Given the description of an element on the screen output the (x, y) to click on. 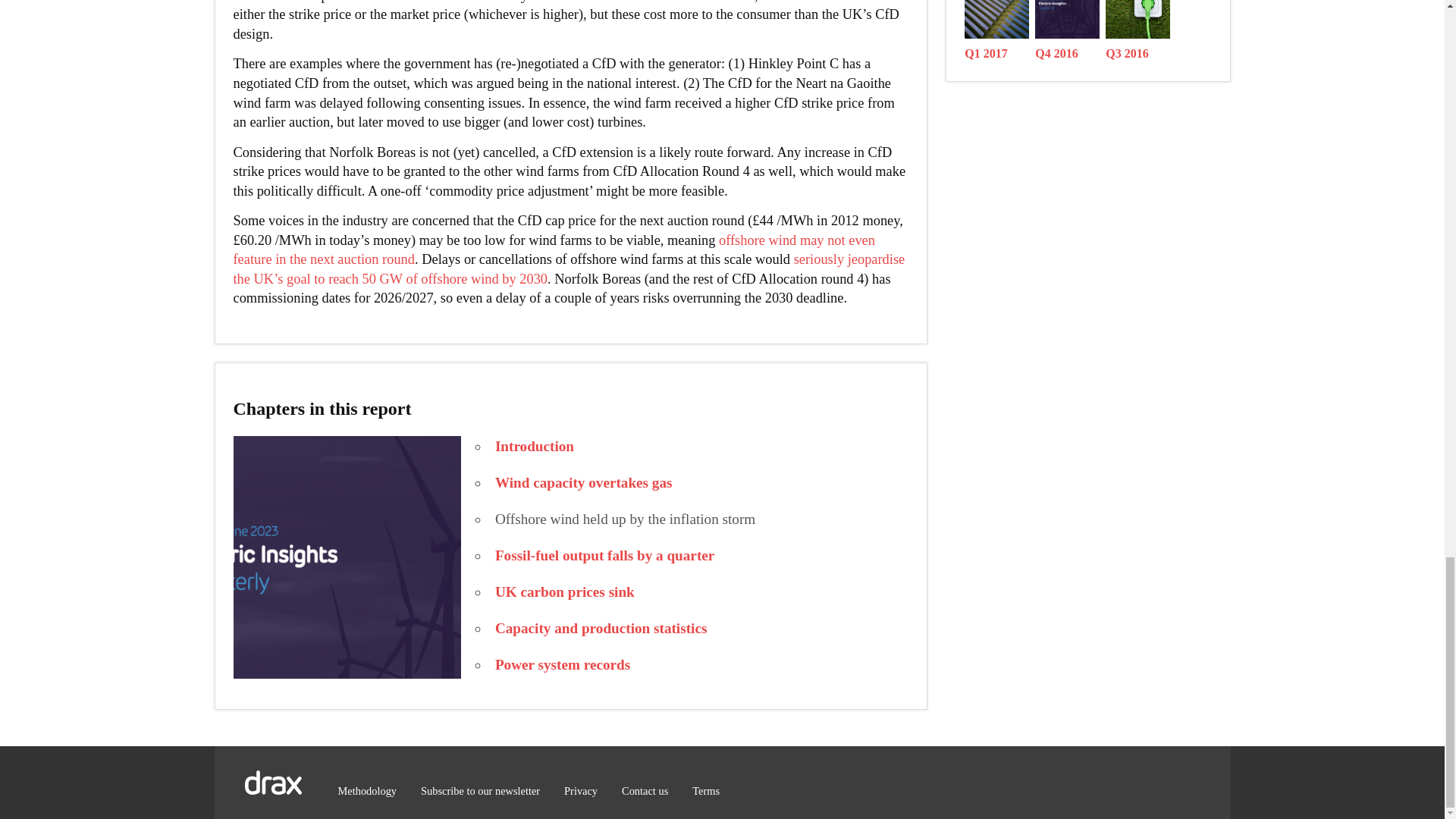
UK carbon prices sink (564, 591)
Capacity and production statistics (601, 627)
Wind capacity overtakes gas (583, 482)
Fossil-fuel output falls by a quarter (604, 555)
offshore wind may not even feature in the next auction round (553, 249)
Introduction (534, 446)
Power system records (562, 664)
